Given the description of an element on the screen output the (x, y) to click on. 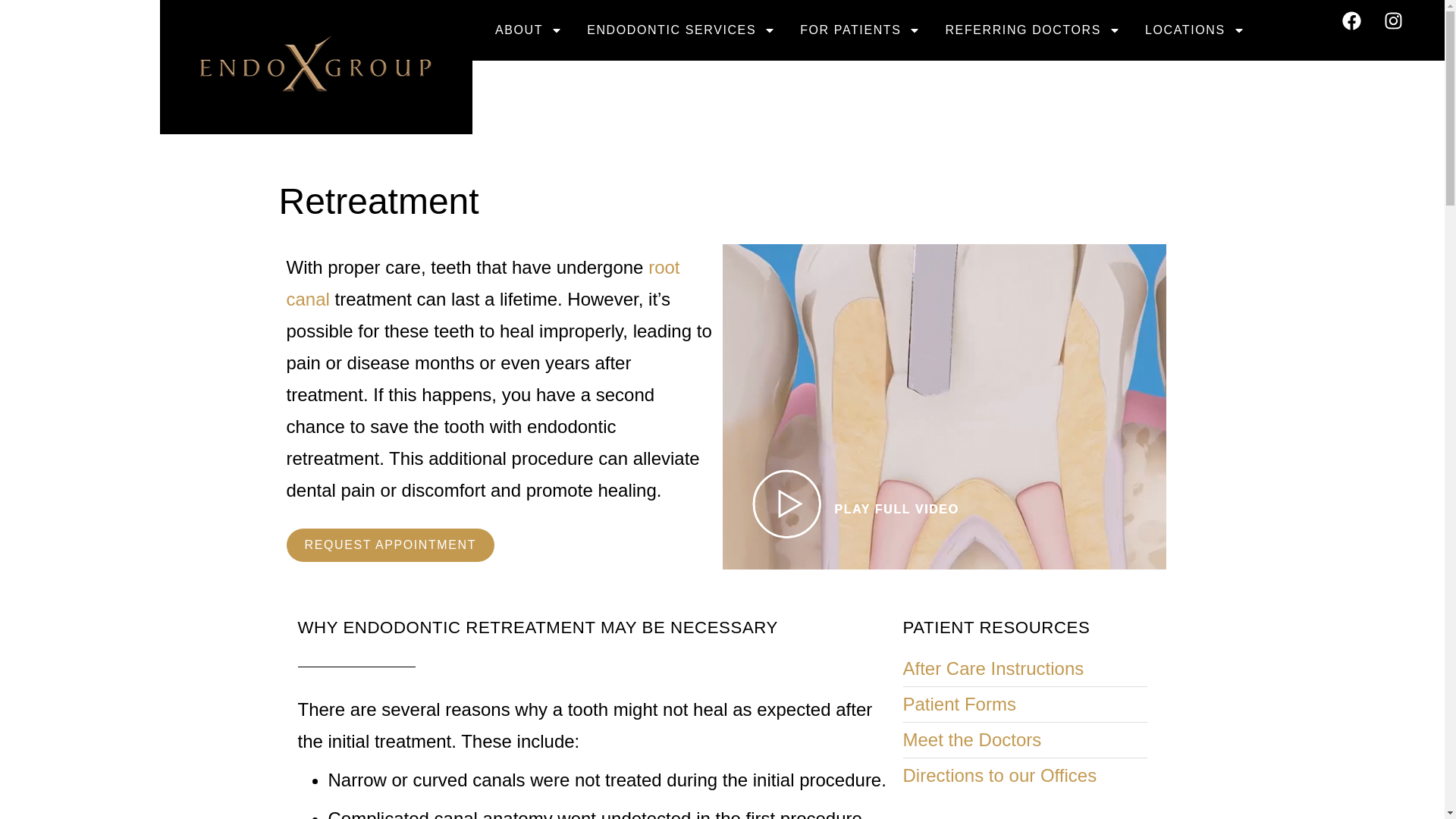
FOR PATIENTS (859, 29)
LOCATIONS (1194, 29)
Patient Reviews (315, 66)
About (528, 29)
For Patients (859, 29)
REFERRING DOCTORS (1032, 29)
Endodontic Services (681, 29)
ENDODONTIC SERVICES (681, 29)
ABOUT (528, 29)
